Given the description of an element on the screen output the (x, y) to click on. 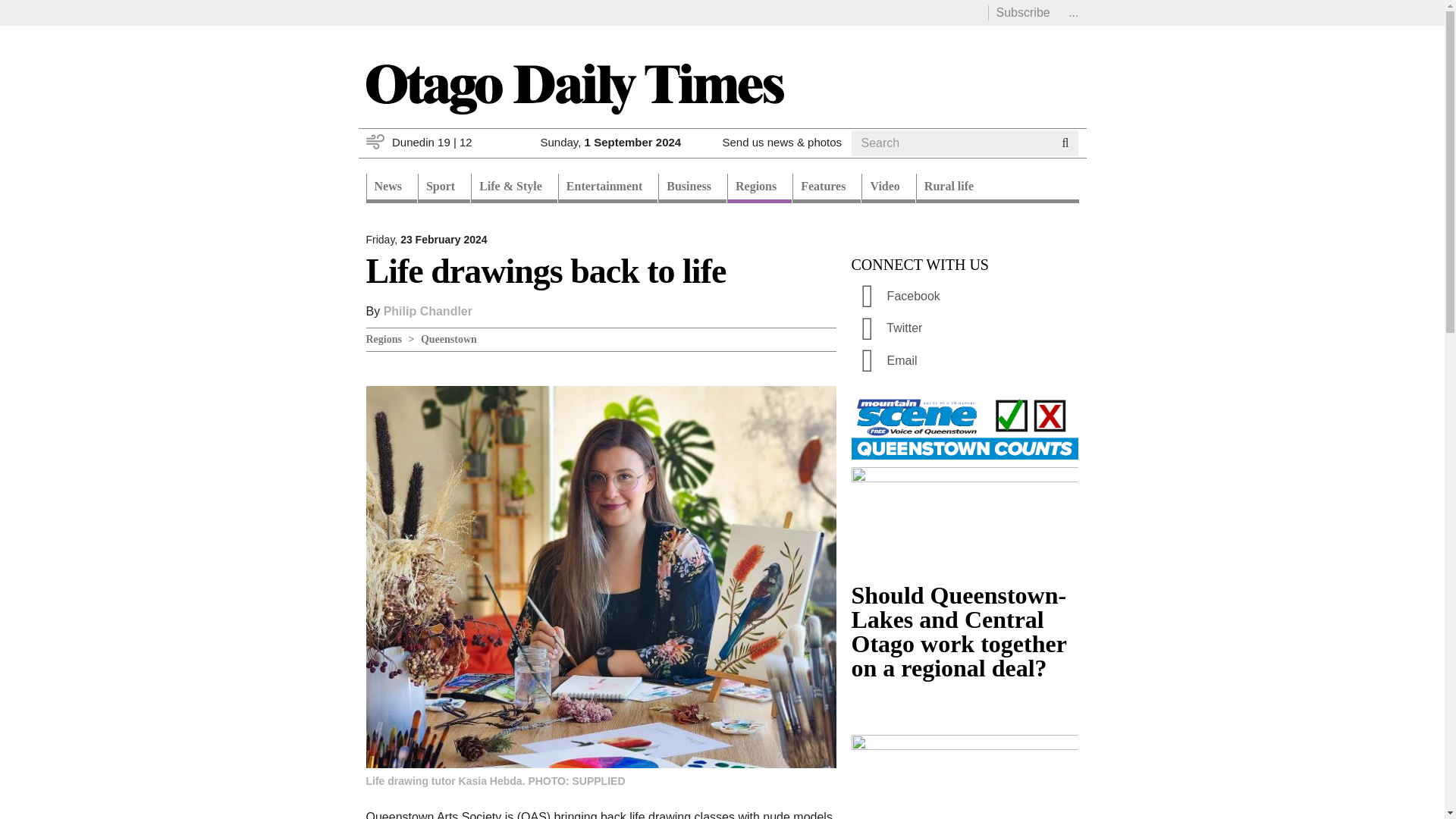
Enter the terms you wish to search for. (951, 143)
Sport (443, 188)
Home (574, 87)
Subscribe (1022, 11)
Wind (374, 141)
Search (879, 161)
News (390, 188)
